Given the description of an element on the screen output the (x, y) to click on. 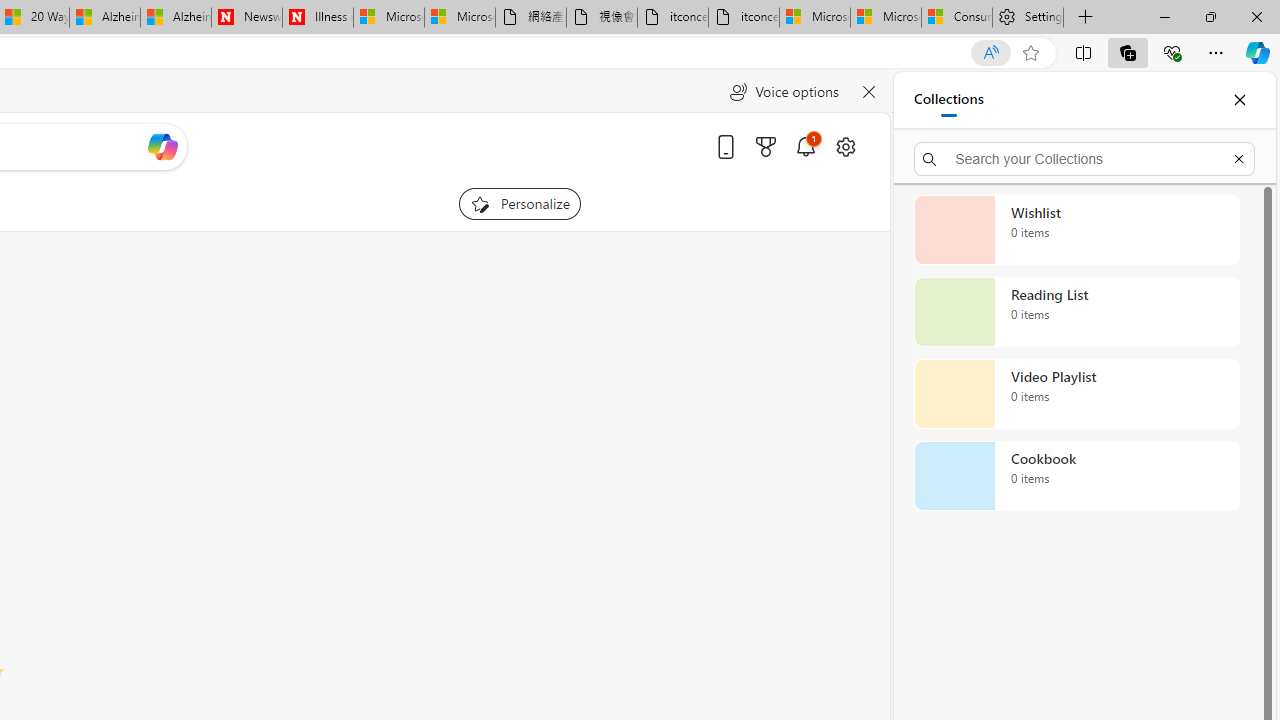
Exit search (1238, 158)
Personalize your feed" (519, 203)
